Given the description of an element on the screen output the (x, y) to click on. 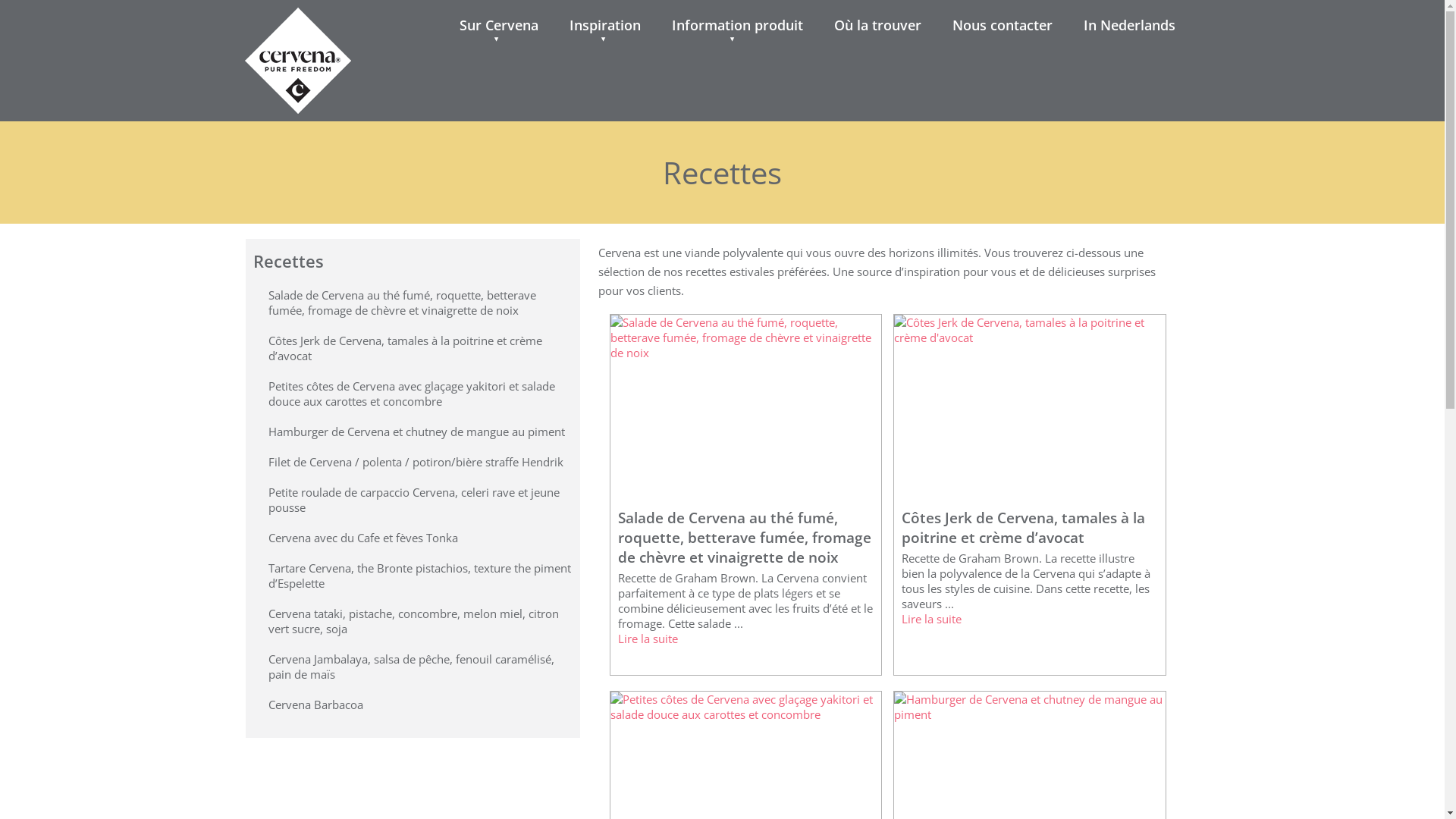
In Nederlands Element type: text (1129, 24)
Hamburger de Cervena et chutney de mangue au piment Element type: text (416, 431)
cervena.be Element type: hover (297, 25)
Information produit Element type: text (737, 24)
Hamburger de Cervena et chutney de mangue au piment Element type: hover (1029, 713)
Sur Cervena Element type: text (498, 24)
Cervena Barbacoa Element type: text (315, 704)
Nous contacter Element type: text (1002, 24)
Lire la suite Element type: text (647, 638)
Inspiration Element type: text (604, 24)
Lire la suite Element type: text (931, 618)
